Given the description of an element on the screen output the (x, y) to click on. 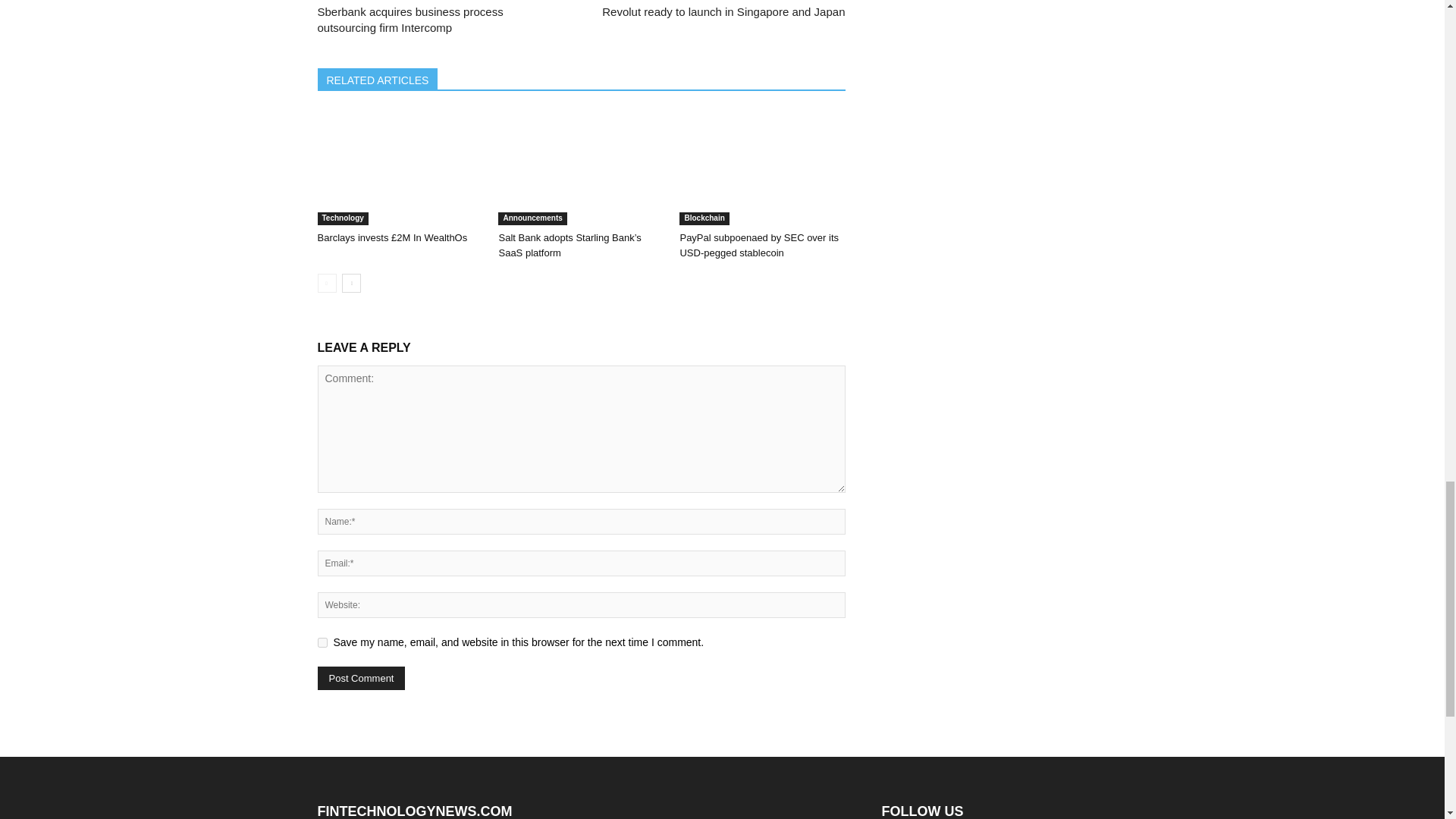
Post Comment (360, 678)
yes (321, 642)
